Given the description of an element on the screen output the (x, y) to click on. 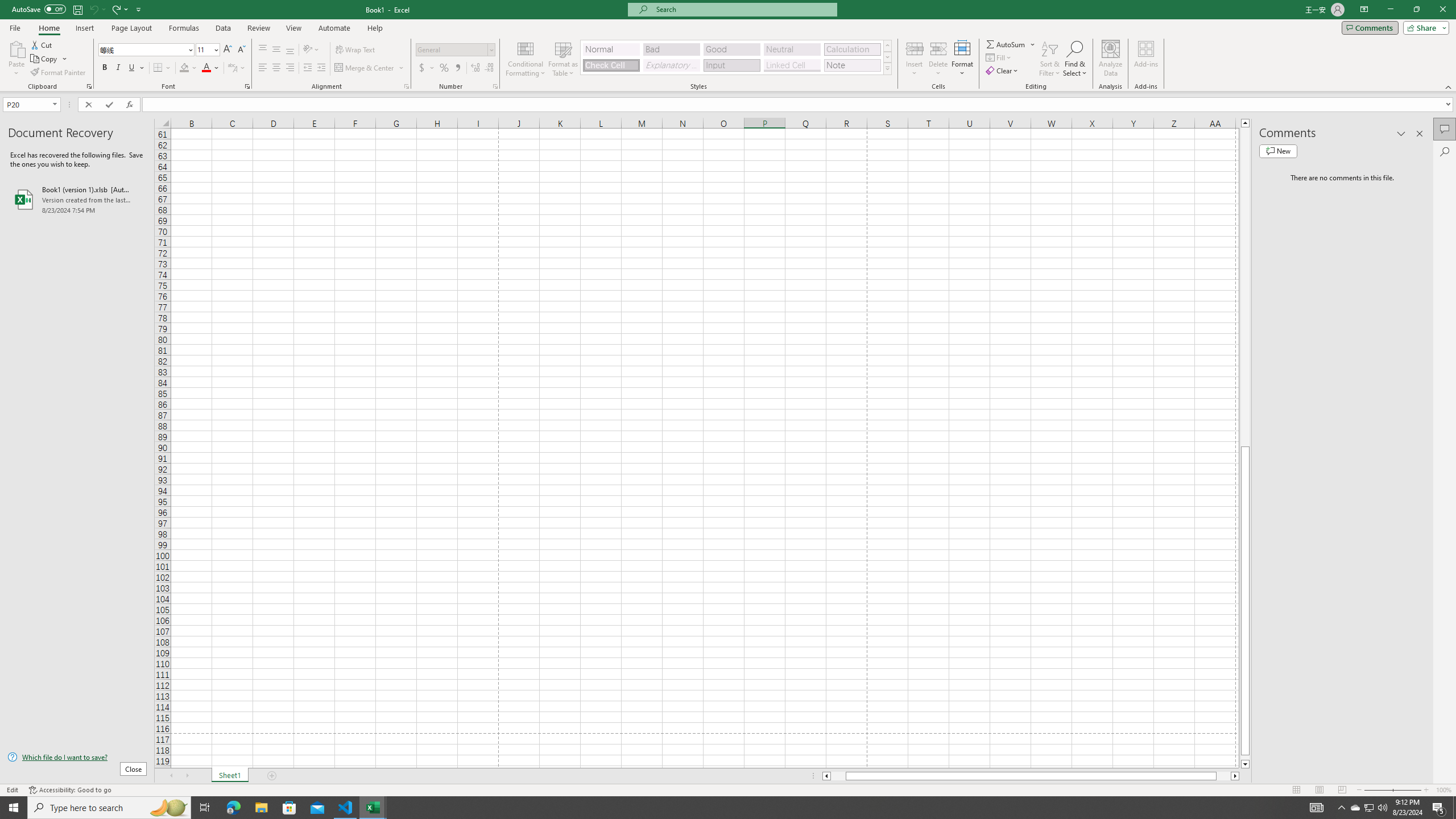
Comma Style (457, 67)
Check Cell (611, 65)
Conditional Formatting (525, 58)
Neutral (791, 49)
Format Cell Font (247, 85)
Font Size (204, 49)
Fill Color (188, 67)
